Given the description of an element on the screen output the (x, y) to click on. 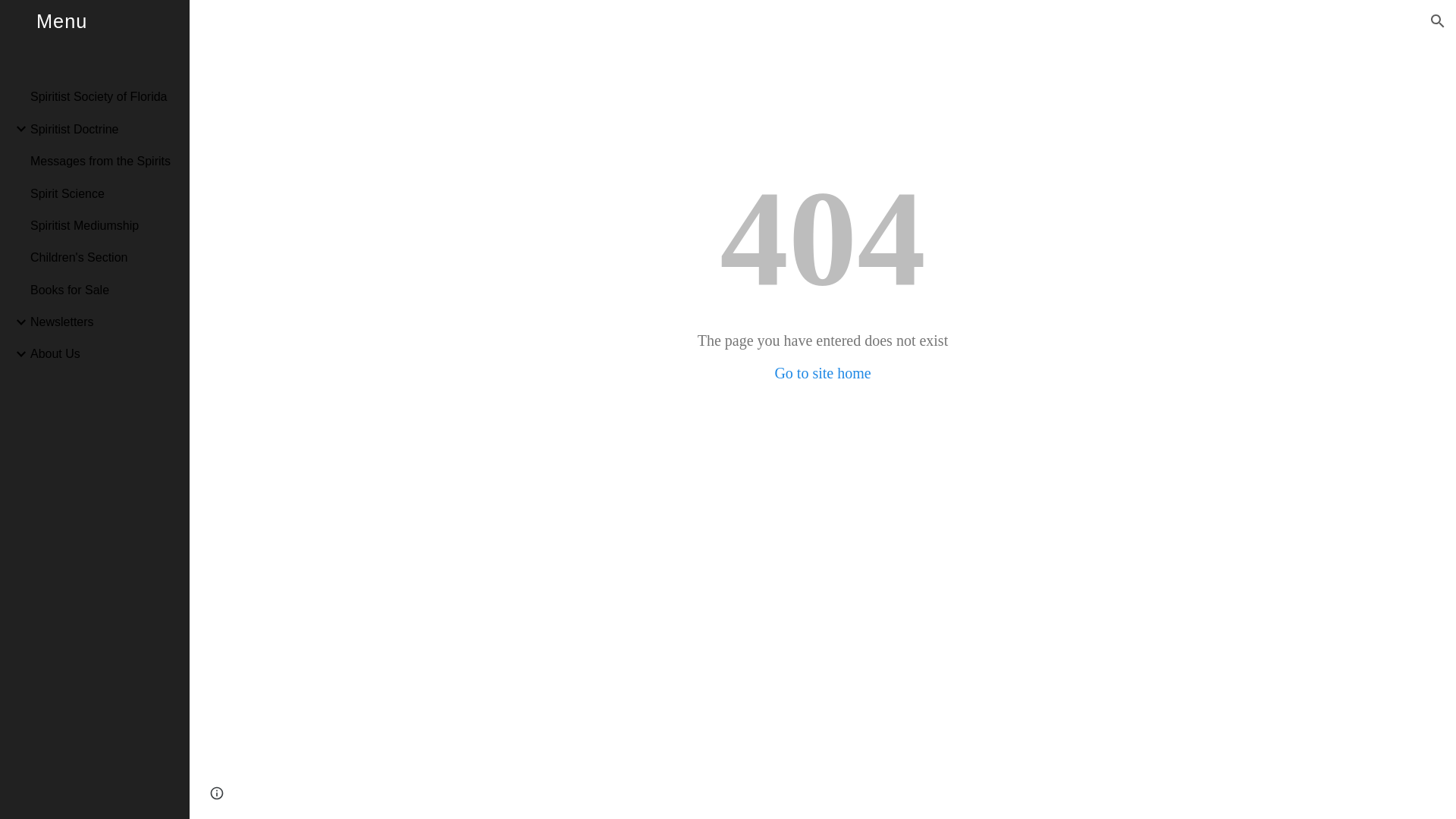
Spiritist Mediumship (103, 224)
About Us (103, 354)
Go to site home (822, 372)
Newsletters (103, 321)
Messages from the Spirits (103, 161)
Menu (94, 40)
Books for Sale (103, 289)
Children's Section (103, 257)
Spiritist Doctrine (103, 128)
Spirit Science (103, 193)
Spiritist Society of Florida (103, 97)
